Given the description of an element on the screen output the (x, y) to click on. 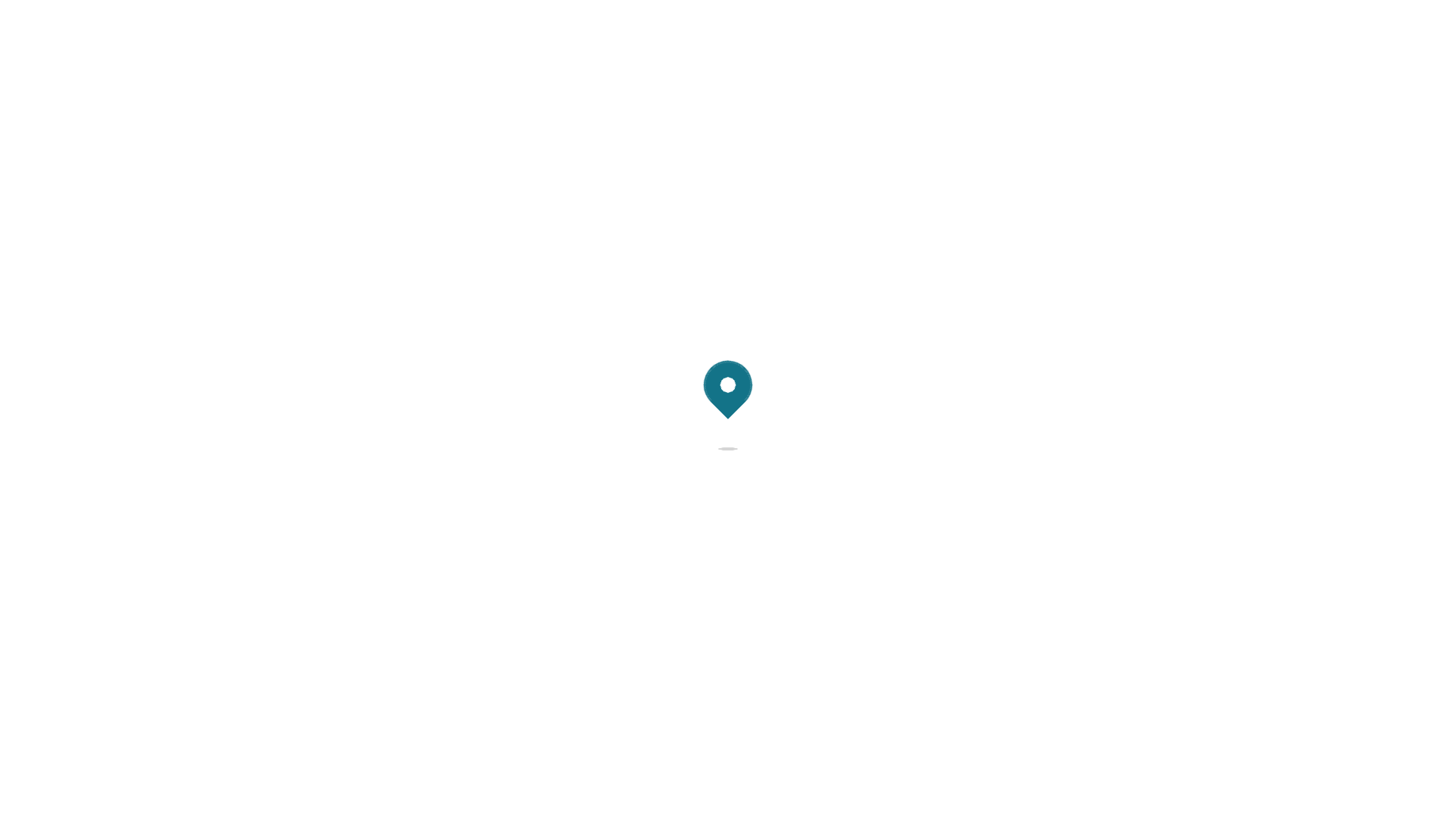
LOCATION Element type: text (1025, 41)
ATHENA
IMMOBILIER Element type: text (140, 37)
CONTACT Element type: text (1285, 41)
NEWS Element type: text (1342, 41)
ACCUEIL Element type: text (909, 41)
PROMOTIONS Element type: text (1106, 41)
info@athenaimmo.ch Element type: text (343, 750)
NOS SERVICES Element type: text (1202, 41)
VENTE Element type: text (965, 41)
